Given the description of an element on the screen output the (x, y) to click on. 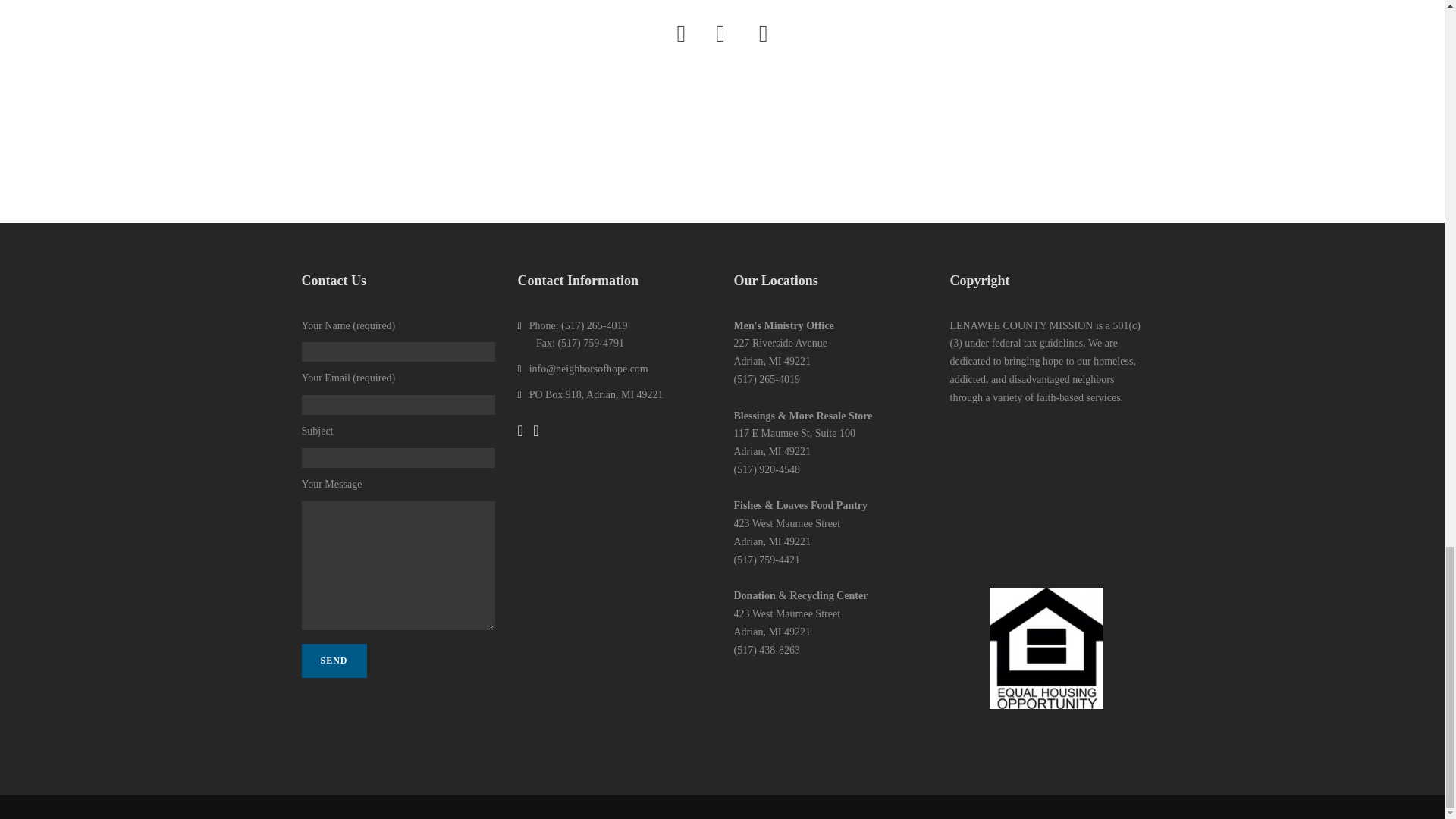
Send (333, 660)
Send (333, 660)
